Given the description of an element on the screen output the (x, y) to click on. 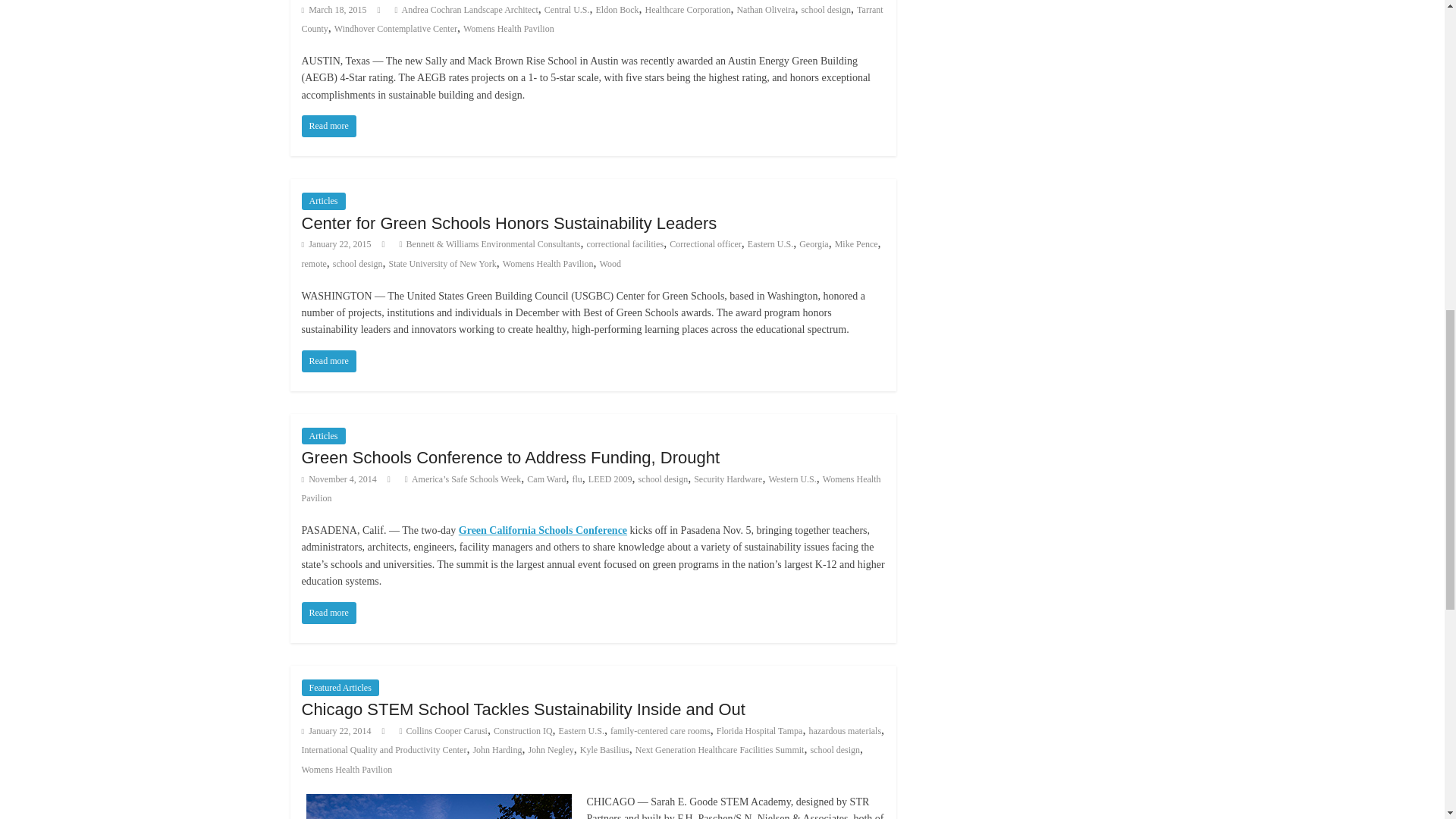
Center for Green Schools Honors Sustainability Leaders (509, 222)
9:04 pm (336, 244)
Austin School Earns Green Building Award (328, 126)
6:26 pm (333, 9)
